Given the description of an element on the screen output the (x, y) to click on. 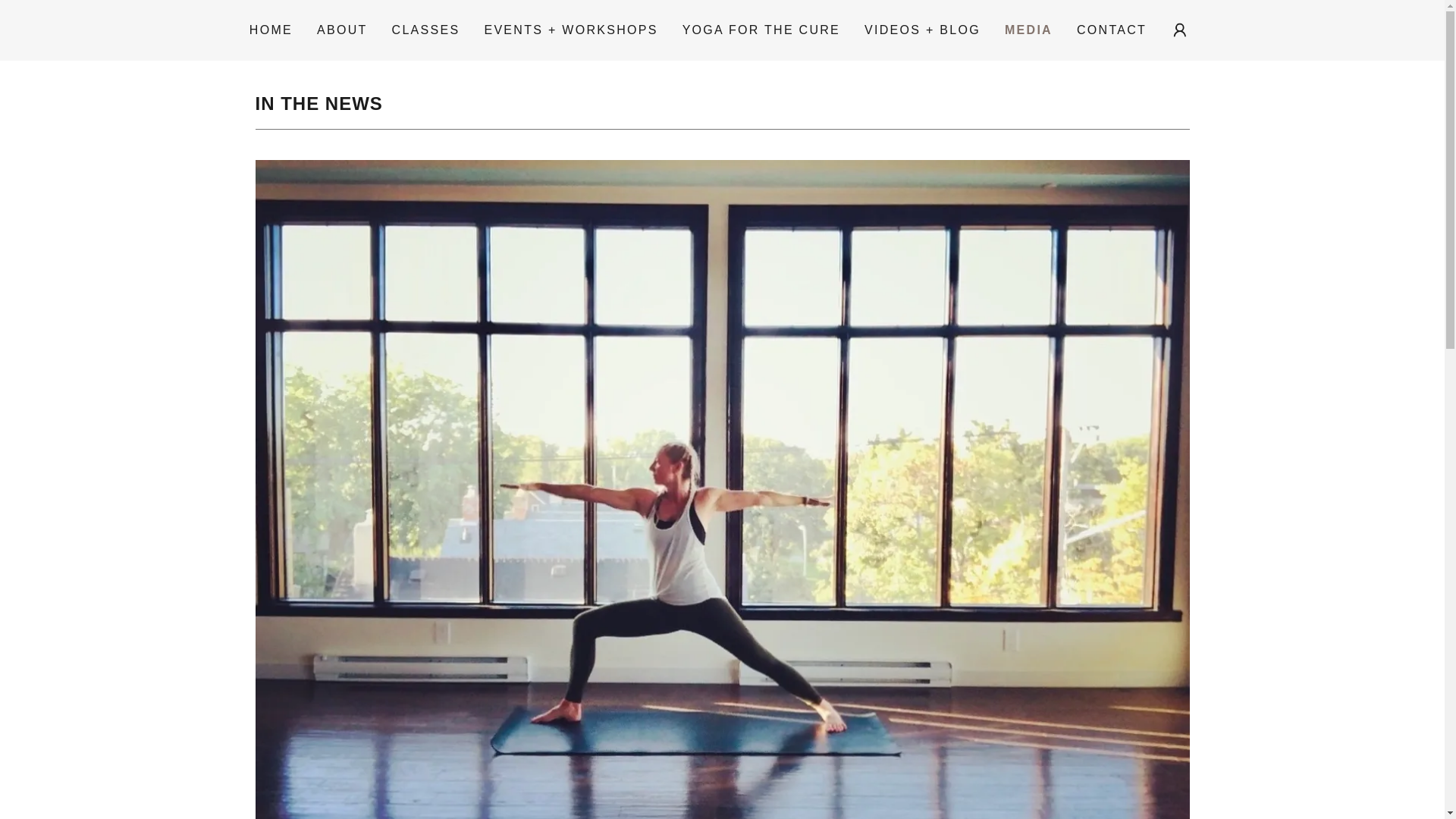
ABOUT (342, 30)
CLASSES (425, 30)
HOME (270, 30)
MEDIA (1028, 30)
CONTACT (1111, 30)
YOGA FOR THE CURE (761, 30)
